Given the description of an element on the screen output the (x, y) to click on. 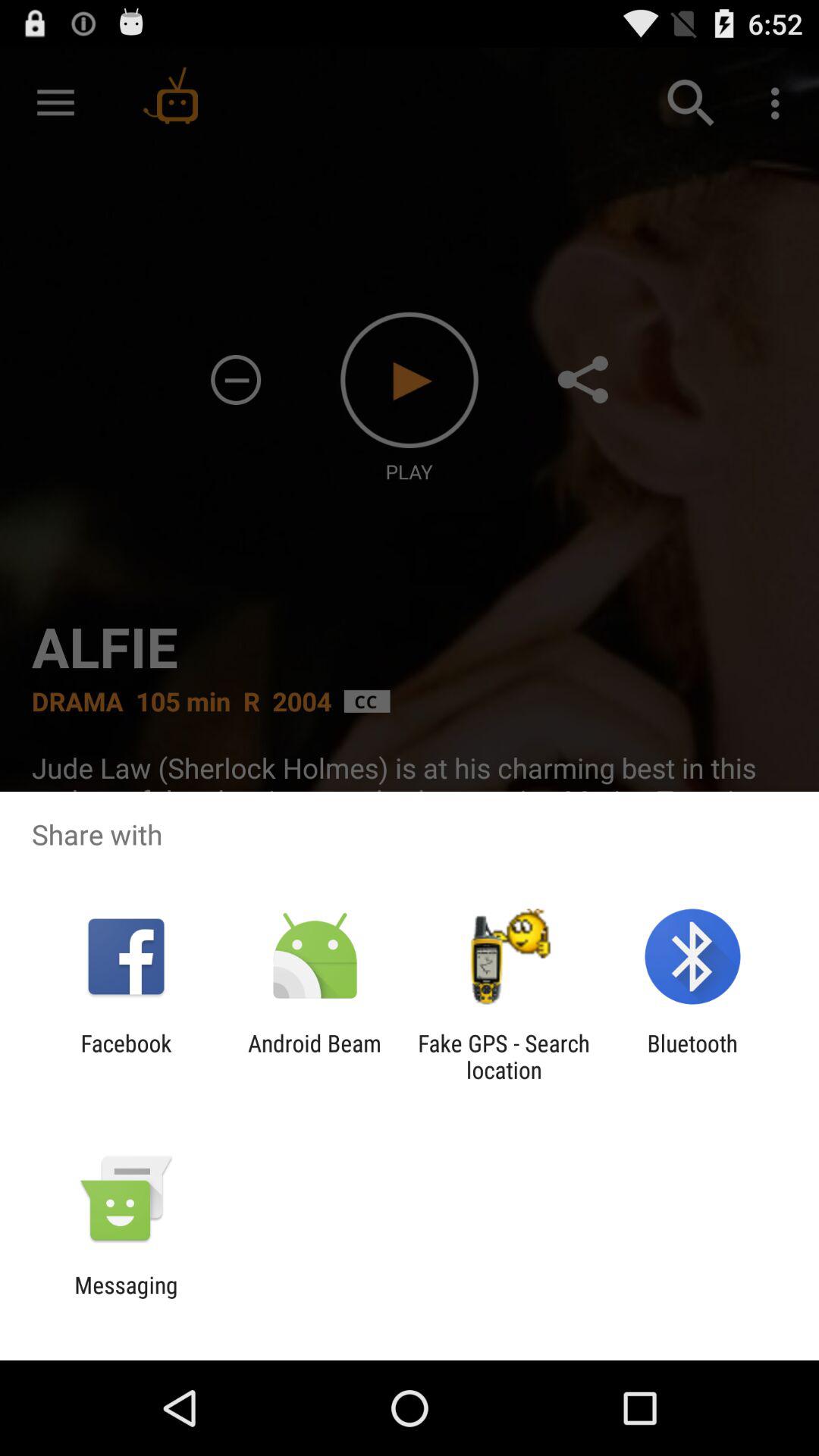
press the app to the left of the bluetooth (503, 1056)
